Given the description of an element on the screen output the (x, y) to click on. 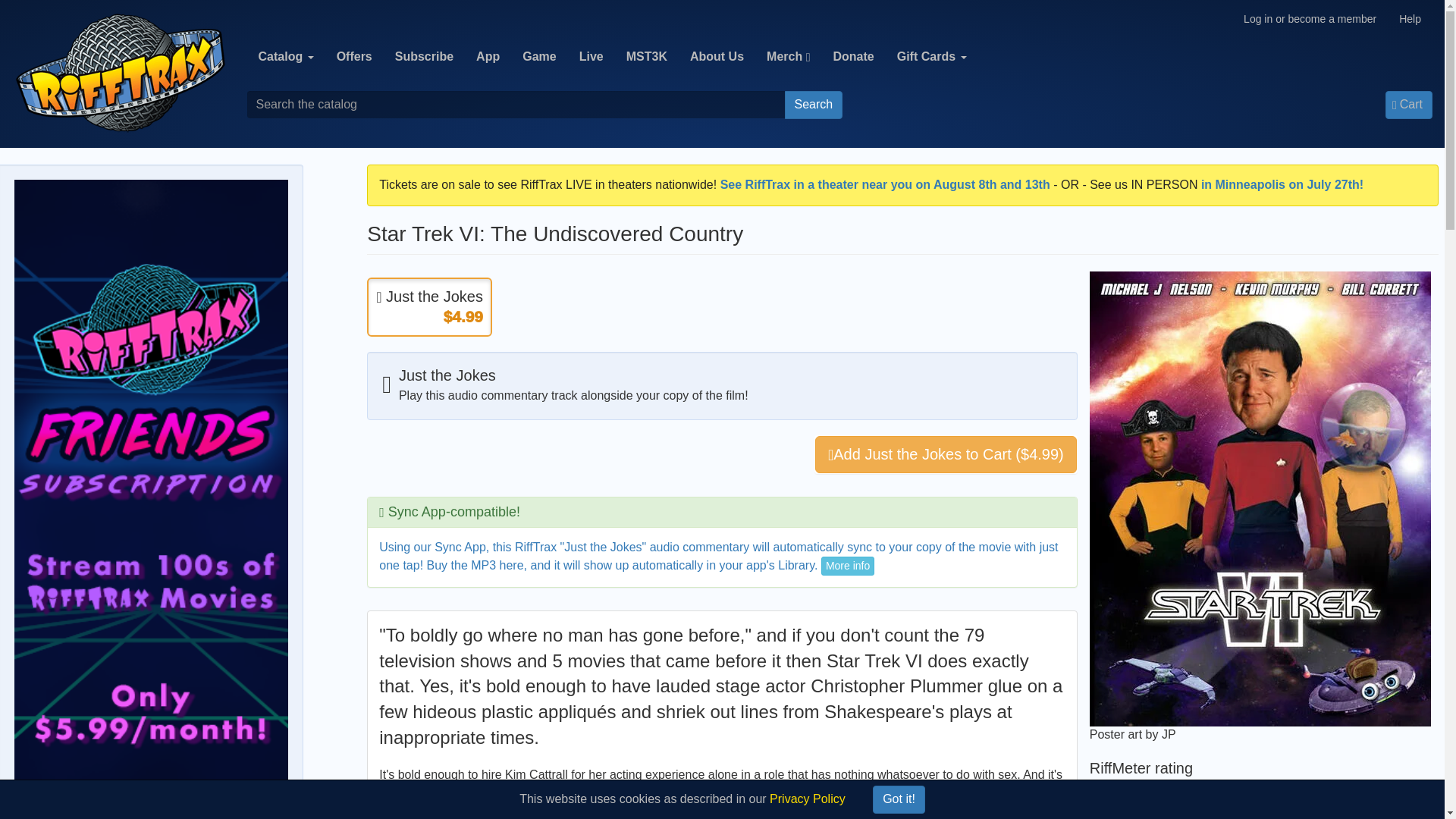
Subscribe (424, 56)
App (487, 56)
in Minneapolis on July 27th! (1281, 184)
Help (1409, 18)
Gift Cards (931, 56)
Game (539, 56)
Home (119, 73)
Offers (354, 56)
MST3K (646, 56)
Log in or become a member (1309, 18)
RiffTrax: The Game (539, 56)
Current Special Offers (354, 56)
Donate (853, 56)
About Us (716, 56)
Catalog (285, 56)
